Given the description of an element on the screen output the (x, y) to click on. 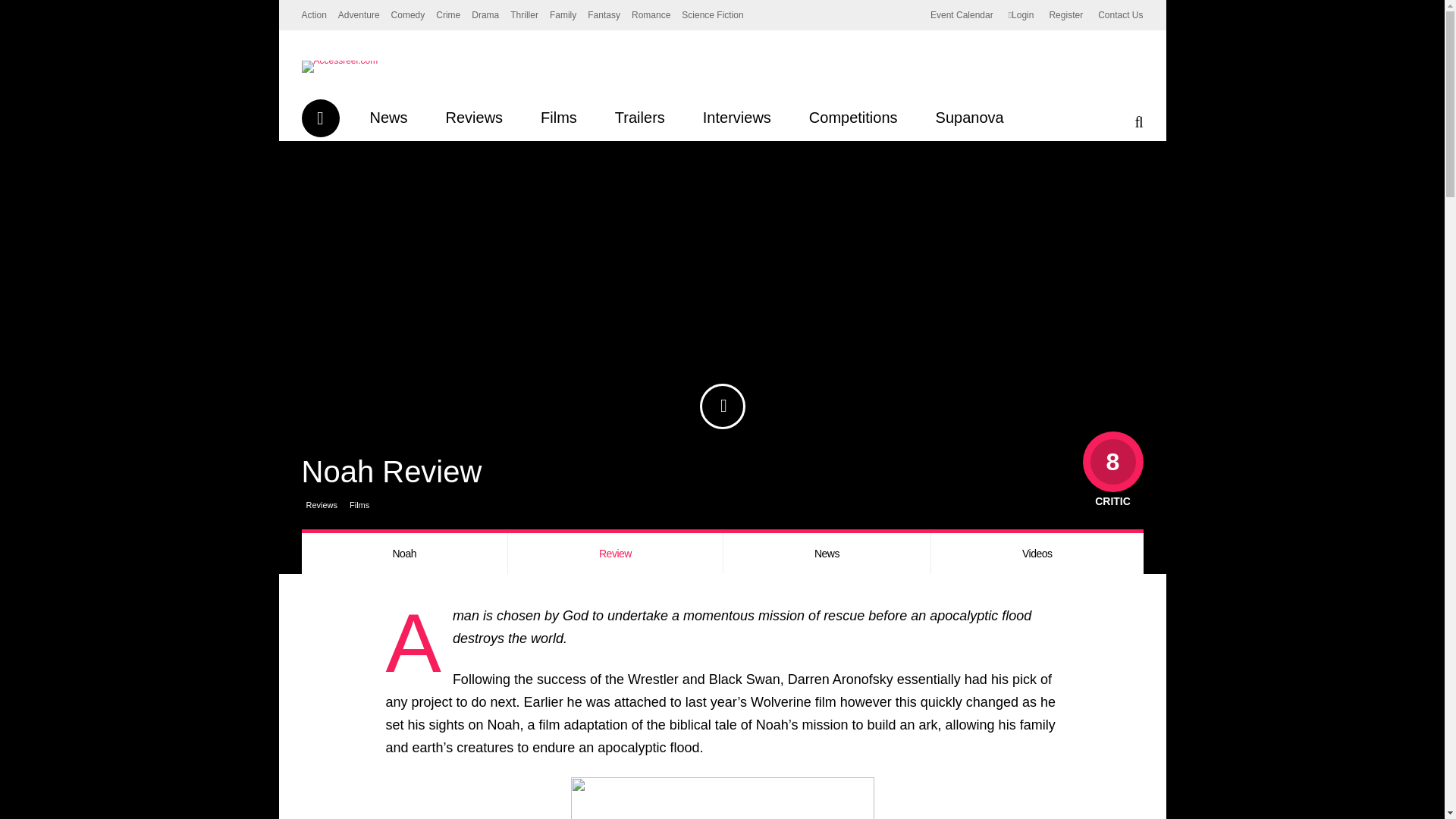
Drama (485, 15)
Science Fiction (711, 15)
Romance (650, 15)
Thriller (524, 15)
Accessreel.com (339, 60)
Adventure (358, 15)
Comedy (408, 15)
Event Calendar (961, 15)
Fantasy (604, 15)
